Given the description of an element on the screen output the (x, y) to click on. 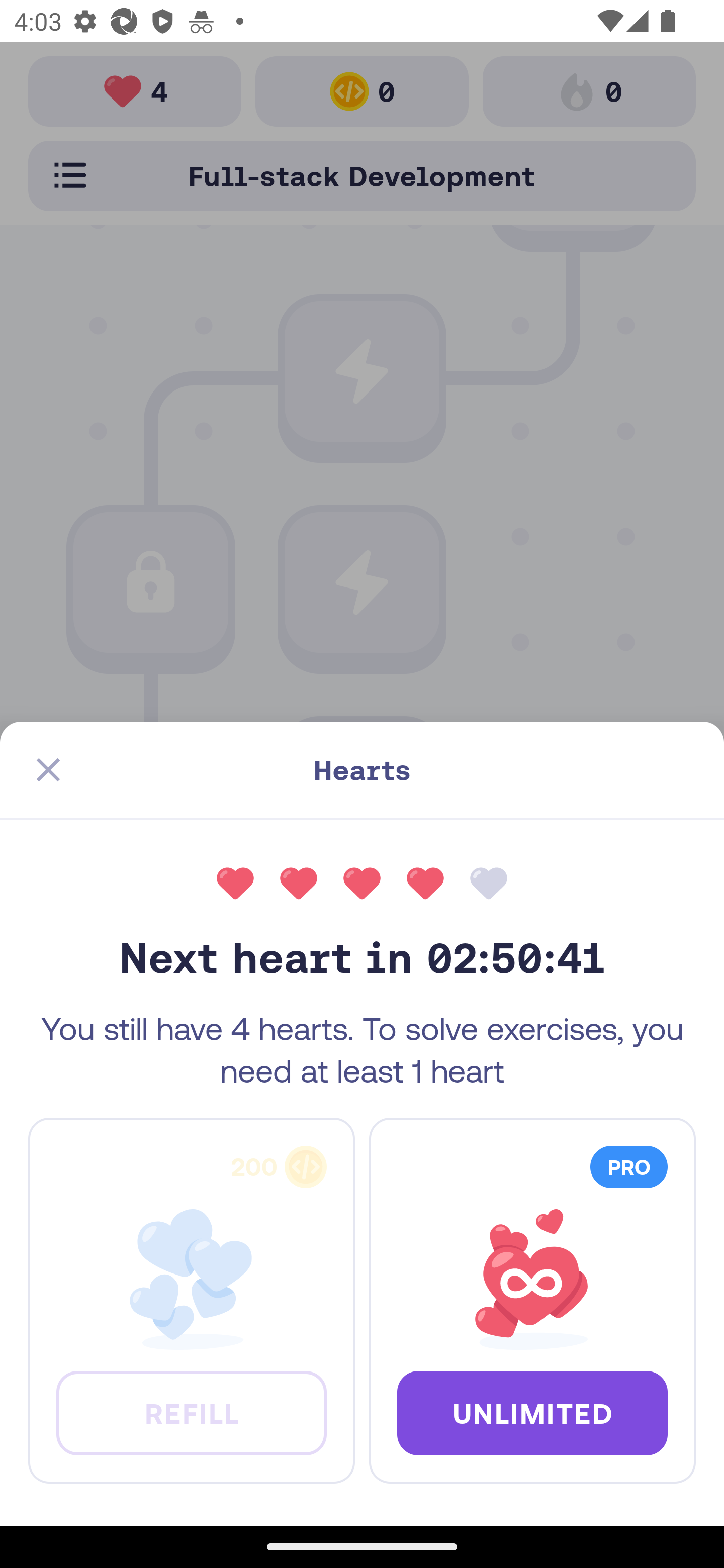
Path Icon (361, 792)
Close (47, 769)
REFILL (191, 1412)
UNLIMITED (532, 1412)
